Given the description of an element on the screen output the (x, y) to click on. 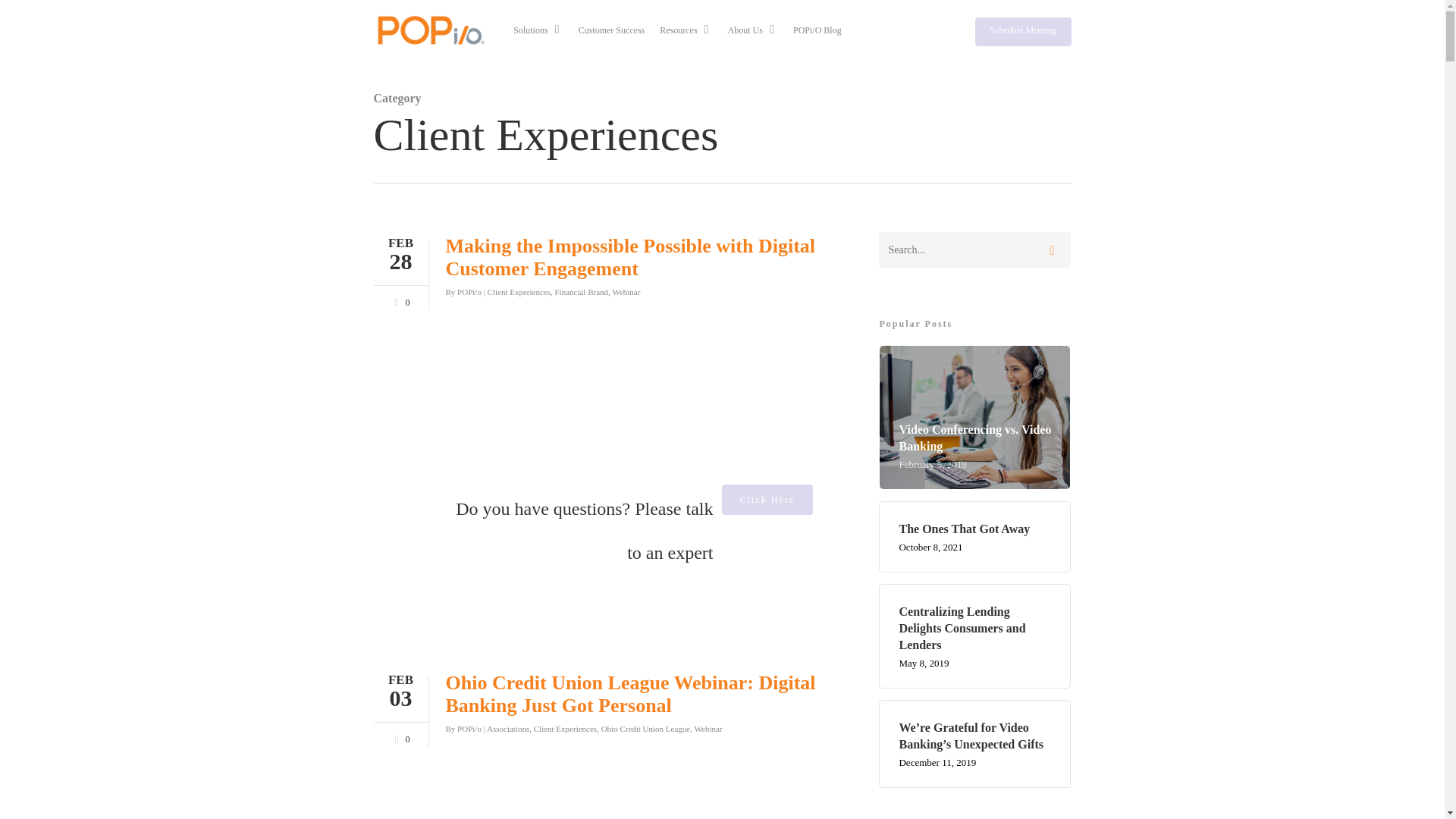
Webinar (708, 728)
Webinar (625, 291)
Financial Brand (581, 291)
Customer Success (611, 29)
About Us (752, 29)
Love this (399, 737)
Love this (399, 300)
Solutions (537, 29)
0 (399, 737)
Resources (685, 29)
